Given the description of an element on the screen output the (x, y) to click on. 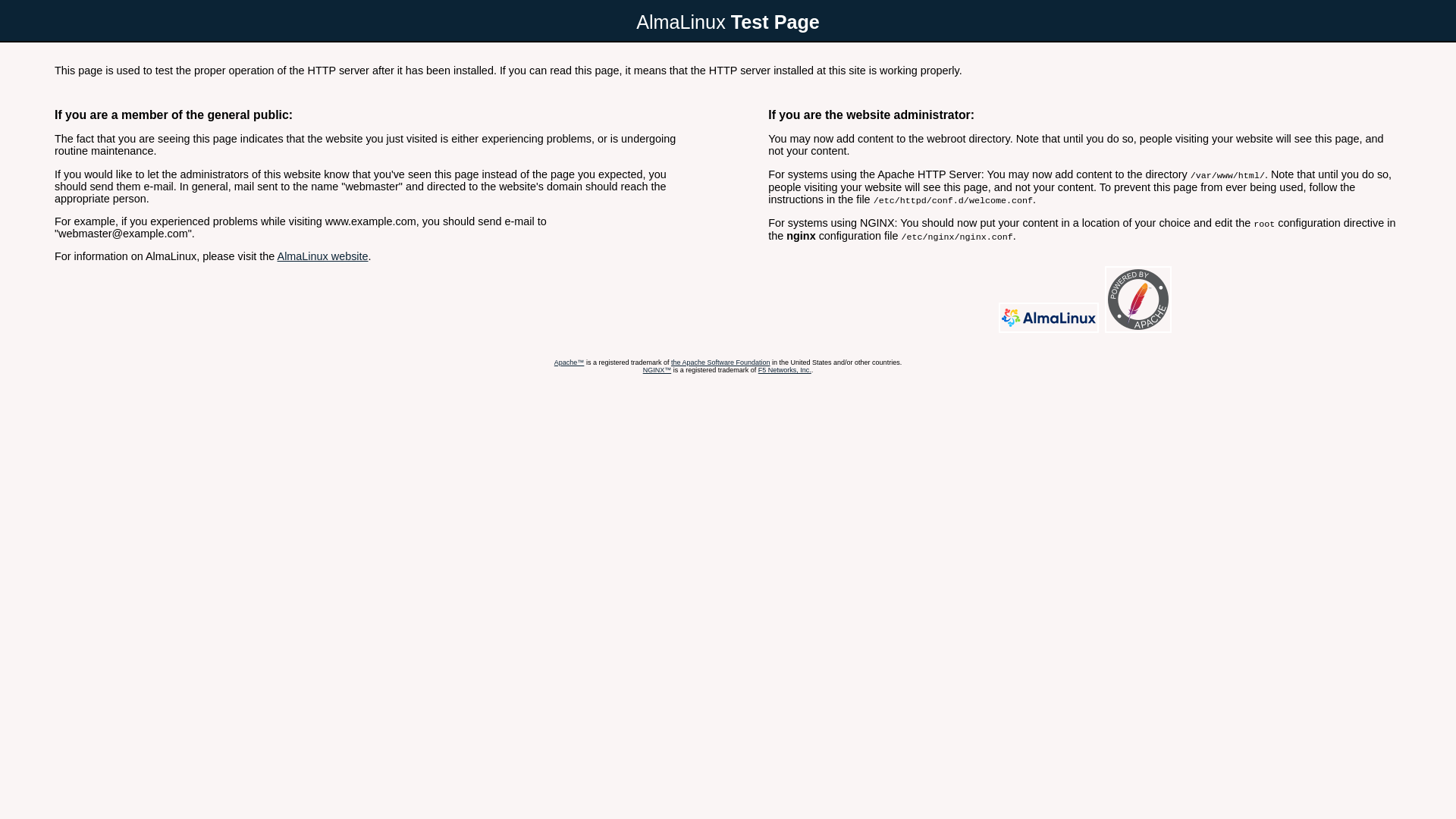
the Apache Software Foundation Element type: text (720, 362)
AlmaLinux website Element type: text (322, 256)
F5 Networks, Inc. Element type: text (784, 369)
